Given the description of an element on the screen output the (x, y) to click on. 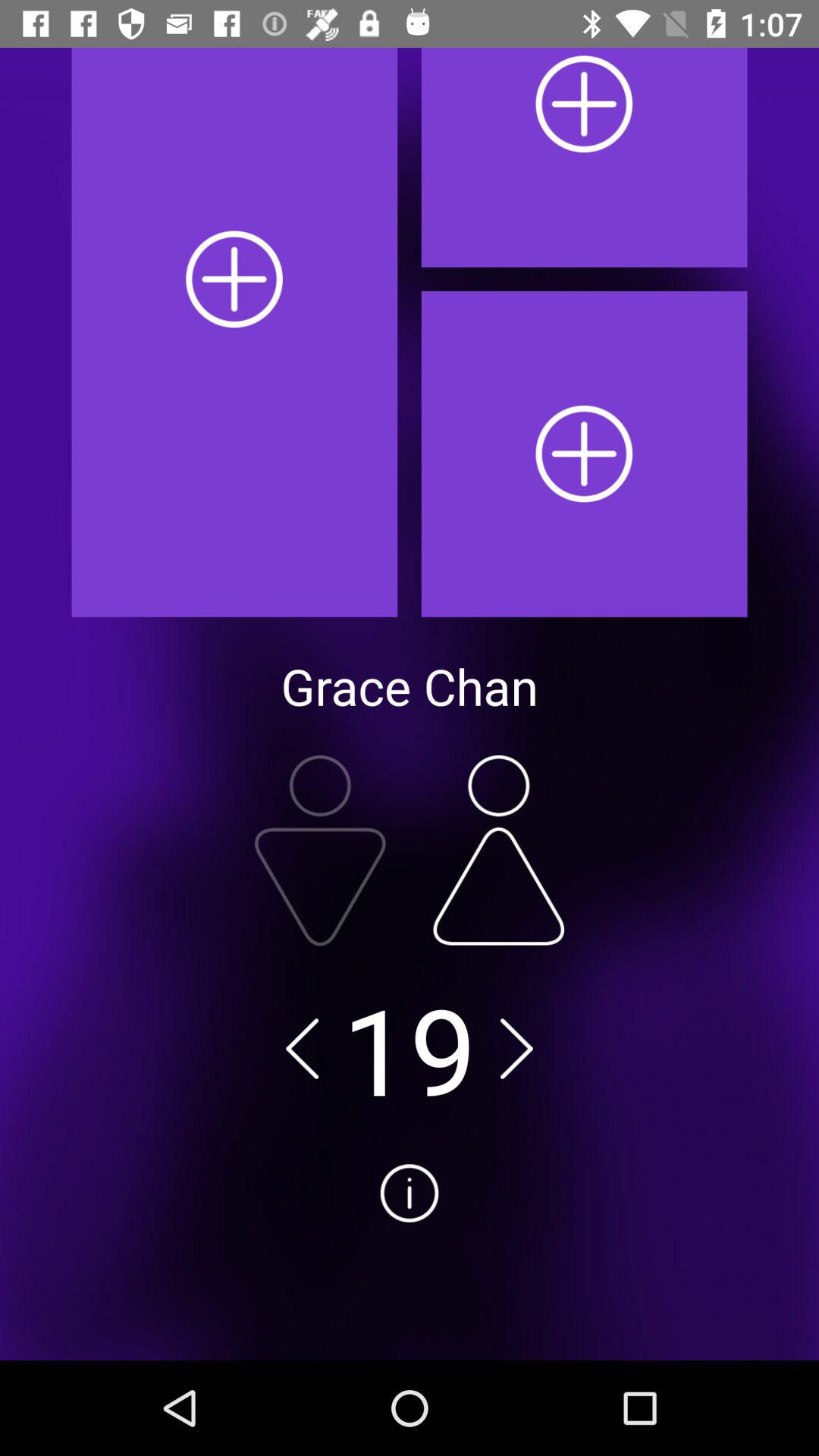
down (319, 850)
